Given the description of an element on the screen output the (x, y) to click on. 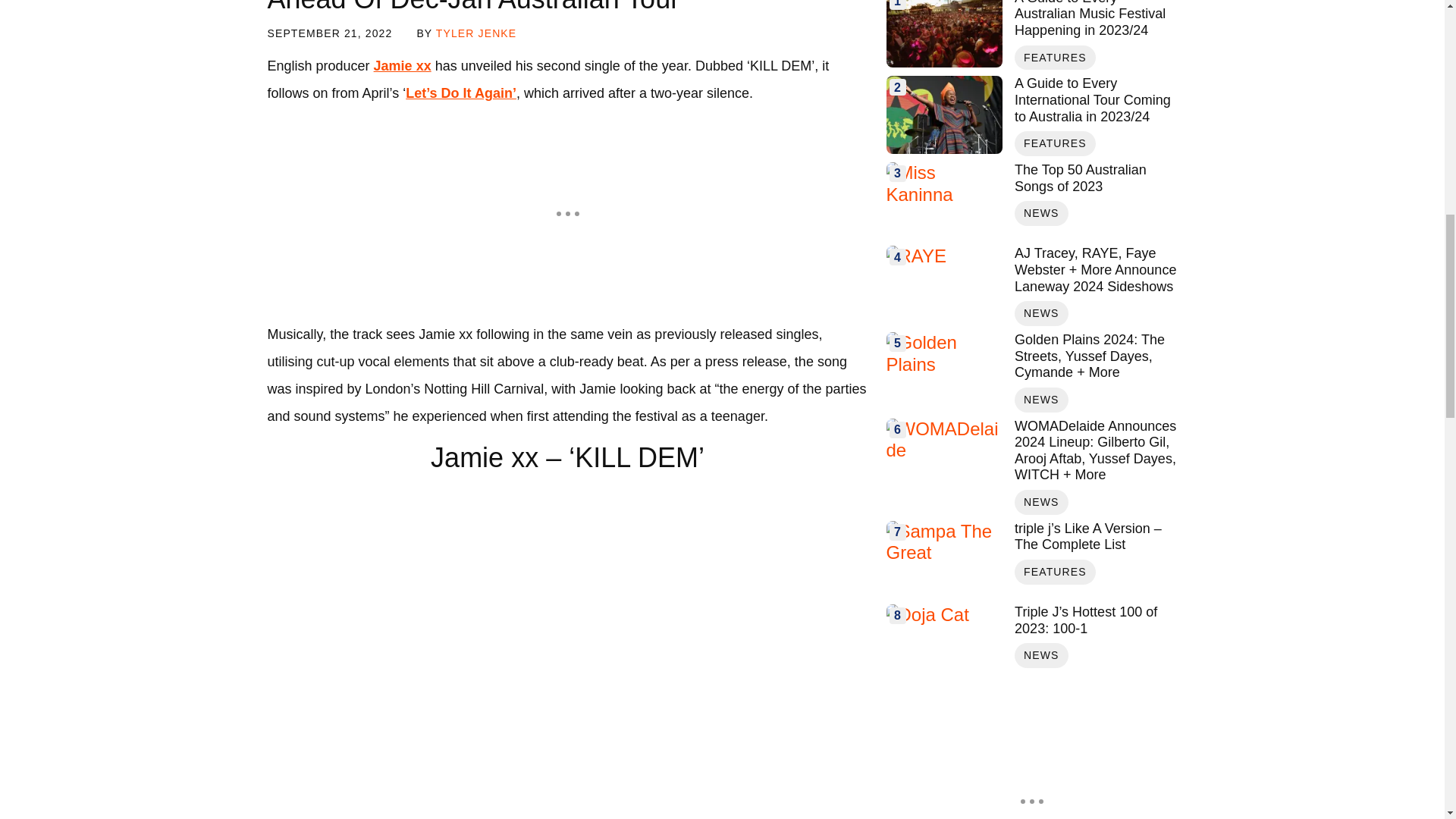
The Top 50 Australian Songs of 2023 (1095, 178)
Jamie xx (402, 65)
The Top 50 Australian Songs of 2023 (944, 200)
TYLER JENKE (475, 33)
